Given the description of an element on the screen output the (x, y) to click on. 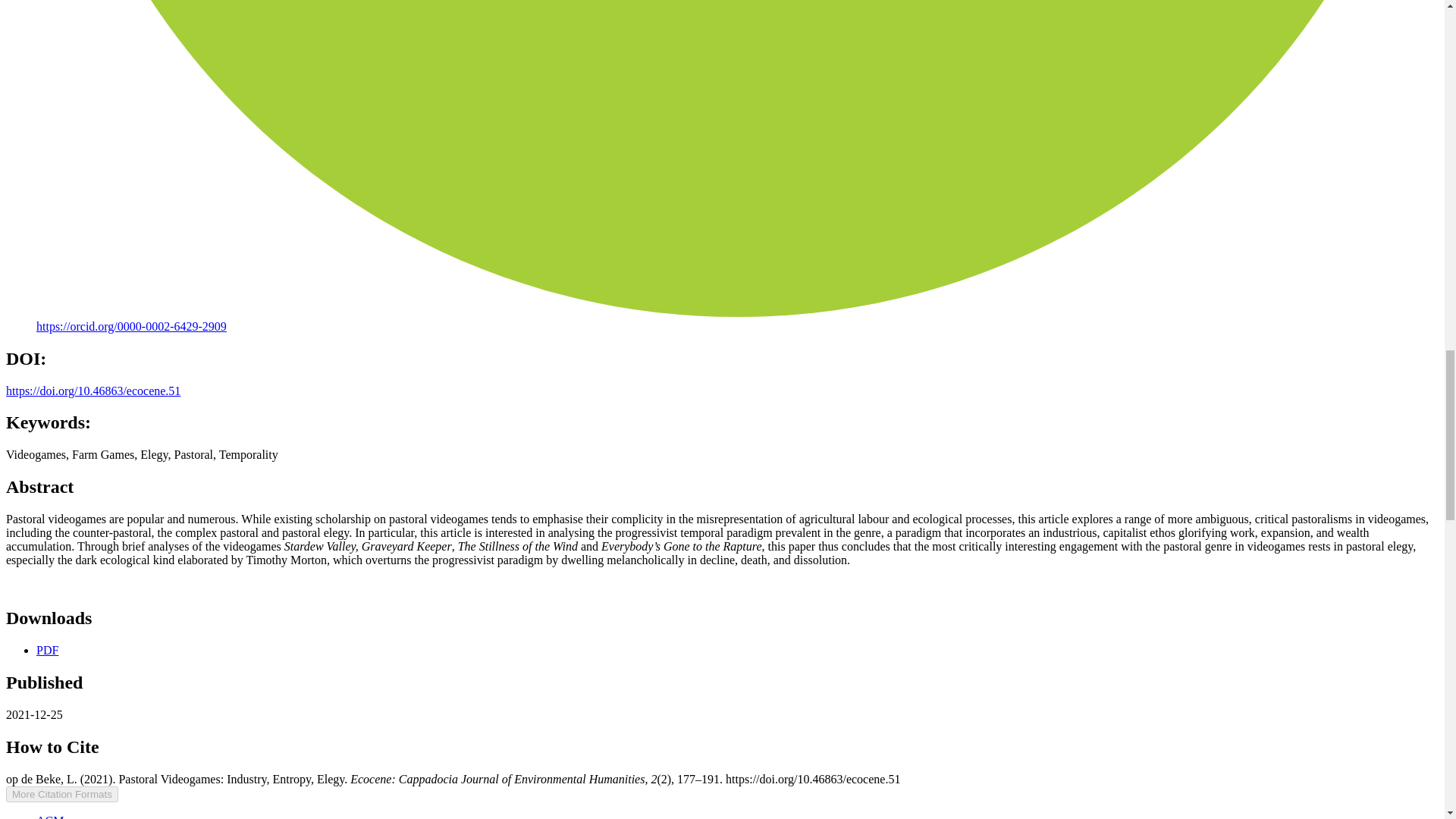
ACM (50, 816)
PDF (47, 649)
More Citation Formats (61, 794)
